Given the description of an element on the screen output the (x, y) to click on. 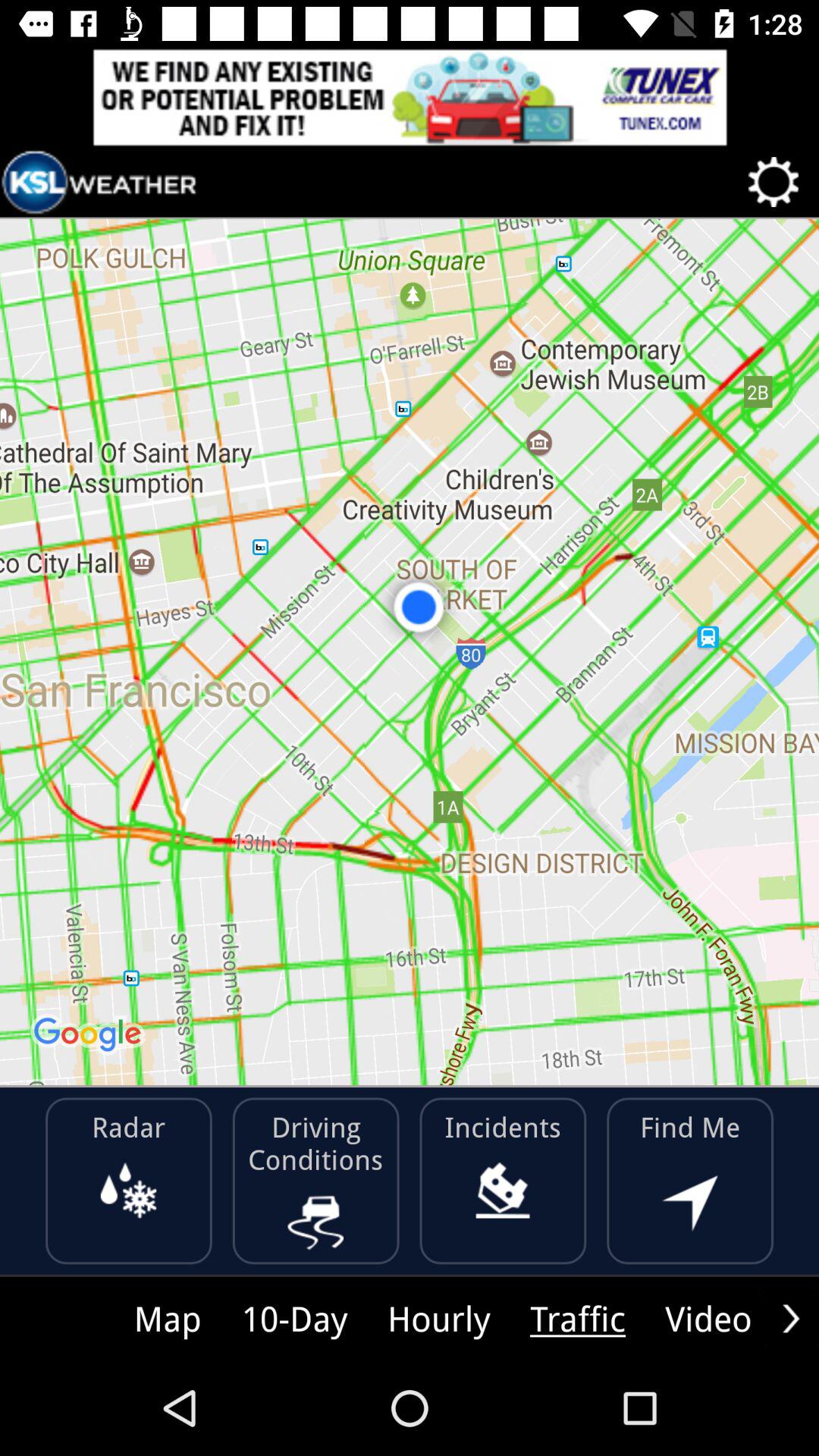
option scroll (791, 1318)
